Given the description of an element on the screen output the (x, y) to click on. 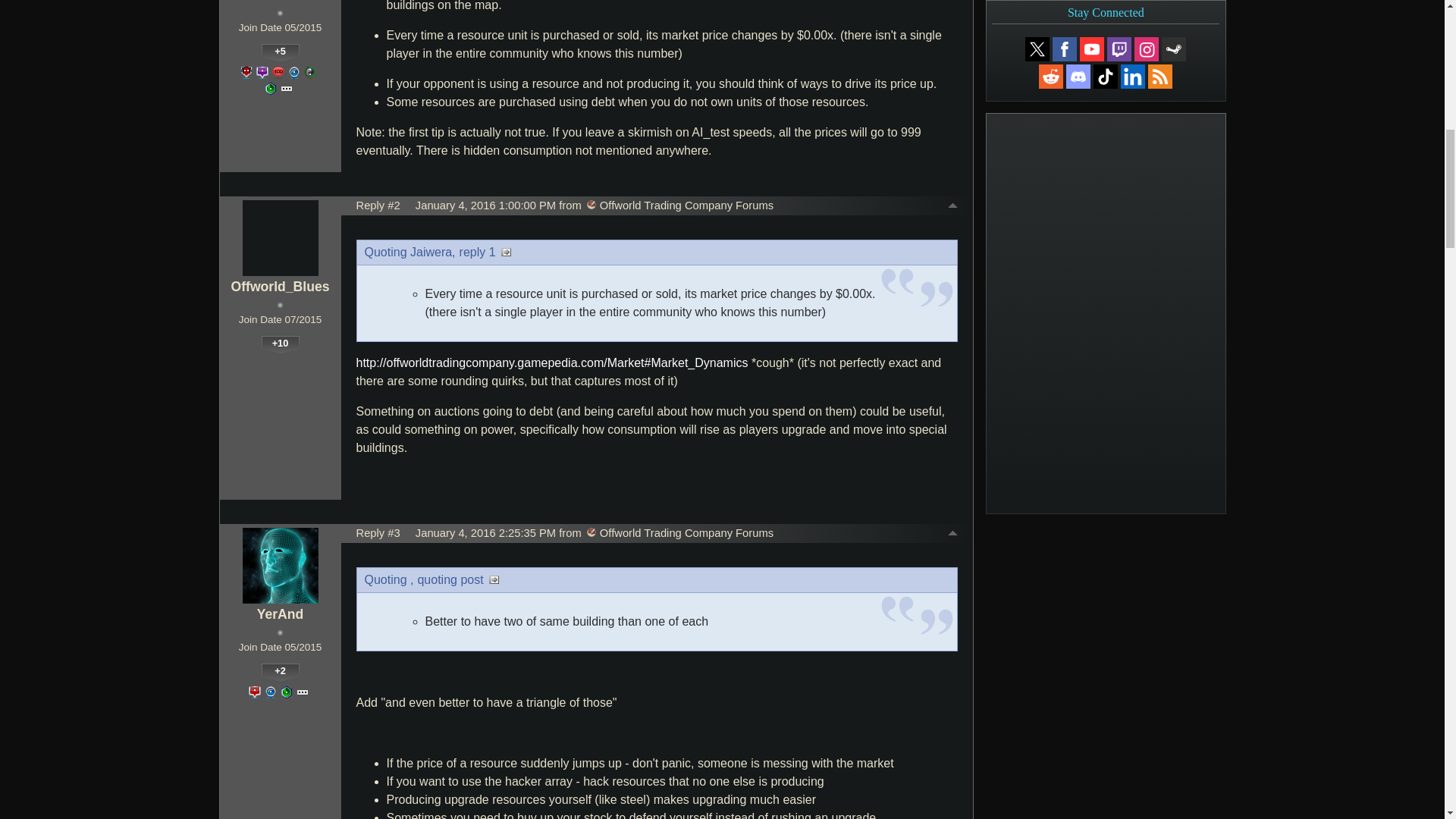
Click user name to view more options. (280, 1)
Rank: 1 (279, 12)
